Given the description of an element on the screen output the (x, y) to click on. 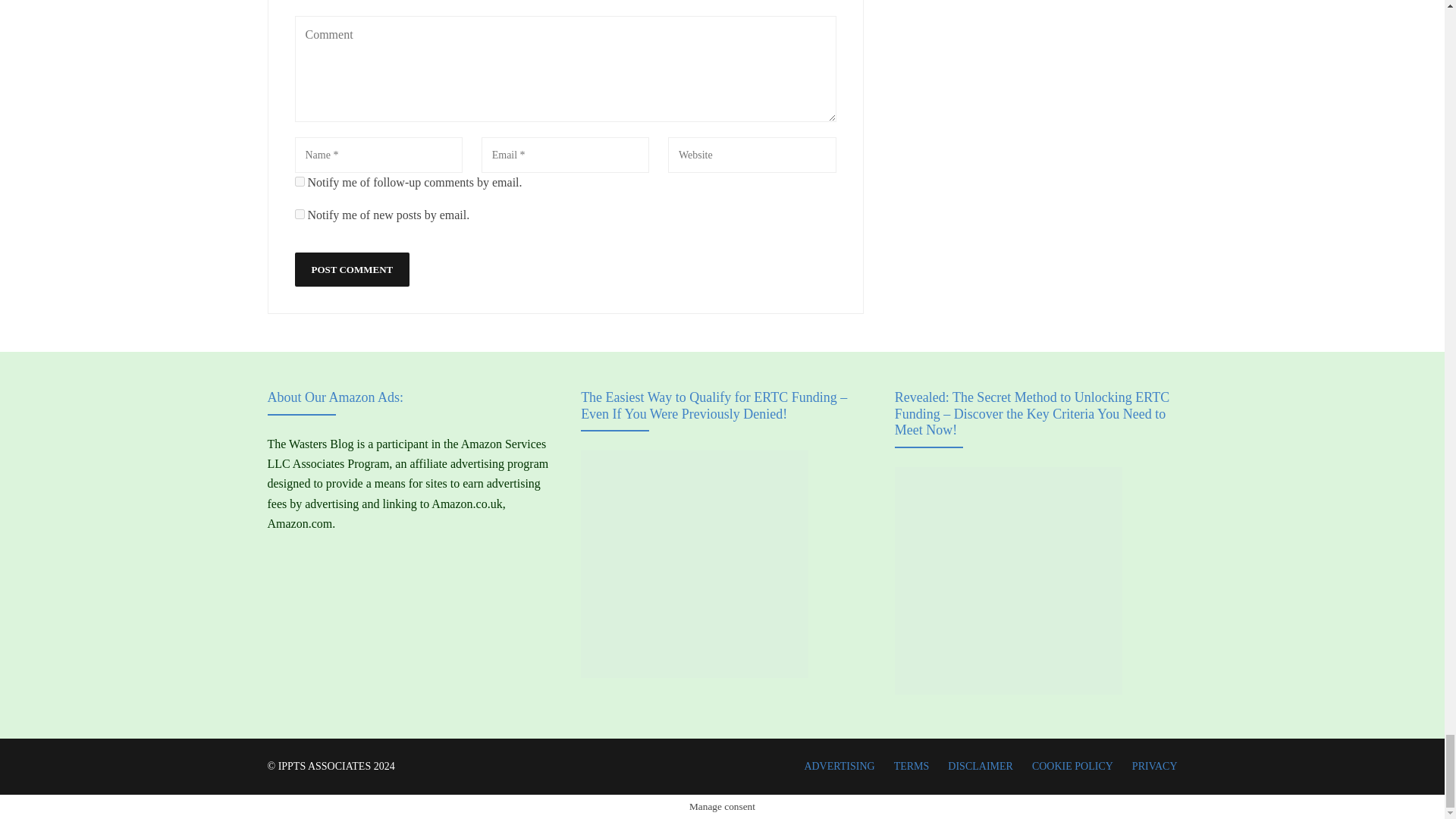
subscribe (299, 214)
Post Comment (351, 269)
subscribe (299, 181)
